Given the description of an element on the screen output the (x, y) to click on. 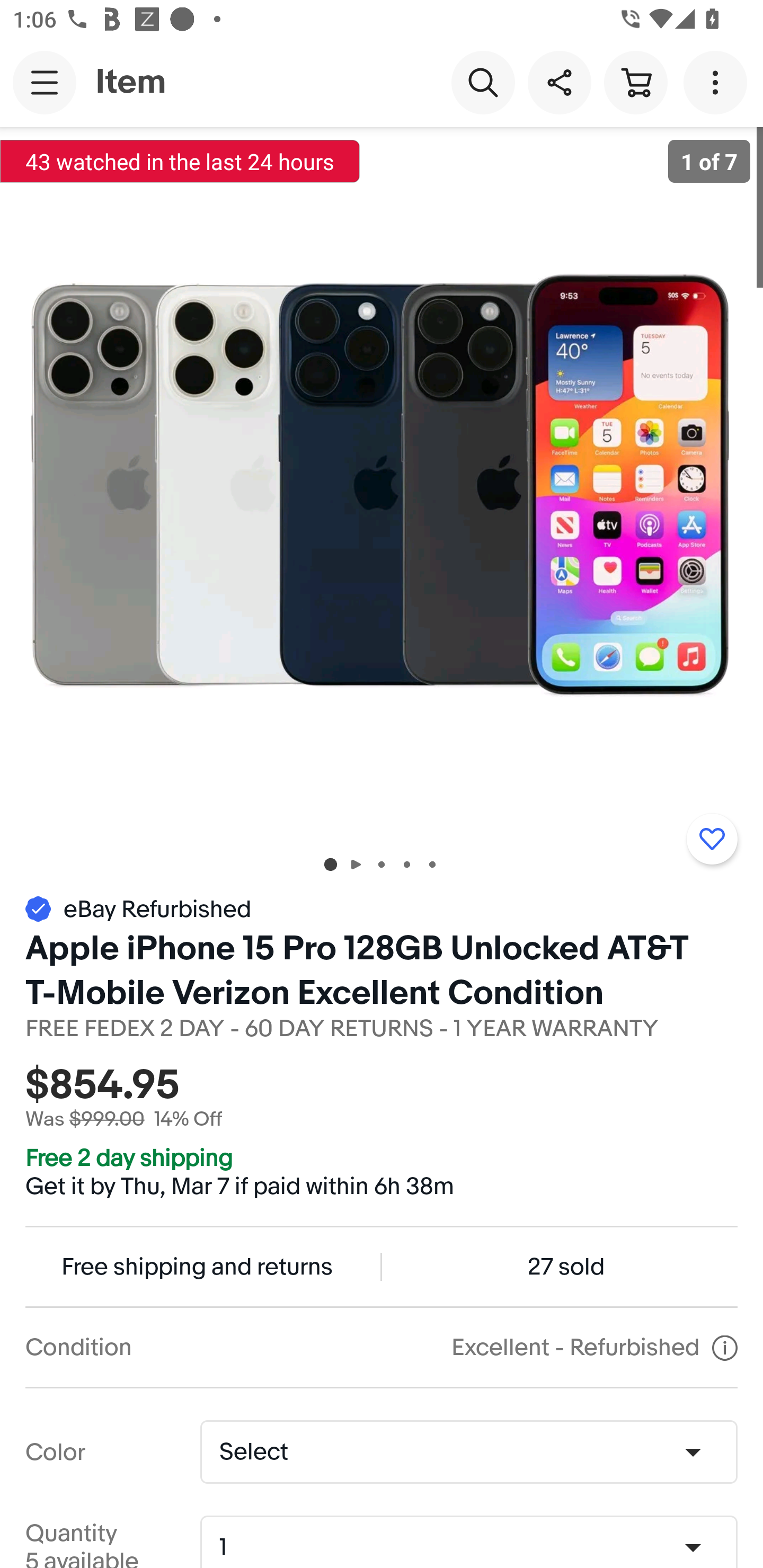
Main navigation, open (44, 82)
Search (482, 81)
Share this item (559, 81)
Cart button shopping cart (635, 81)
More options (718, 81)
Item image 1 of 7 (381, 482)
43 watched in the last 24 hours (180, 161)
Add to watchlist (711, 838)
Color,No selection Select (468, 1451)
Quantity,1,5 available 1 (474, 1547)
